Given the description of an element on the screen output the (x, y) to click on. 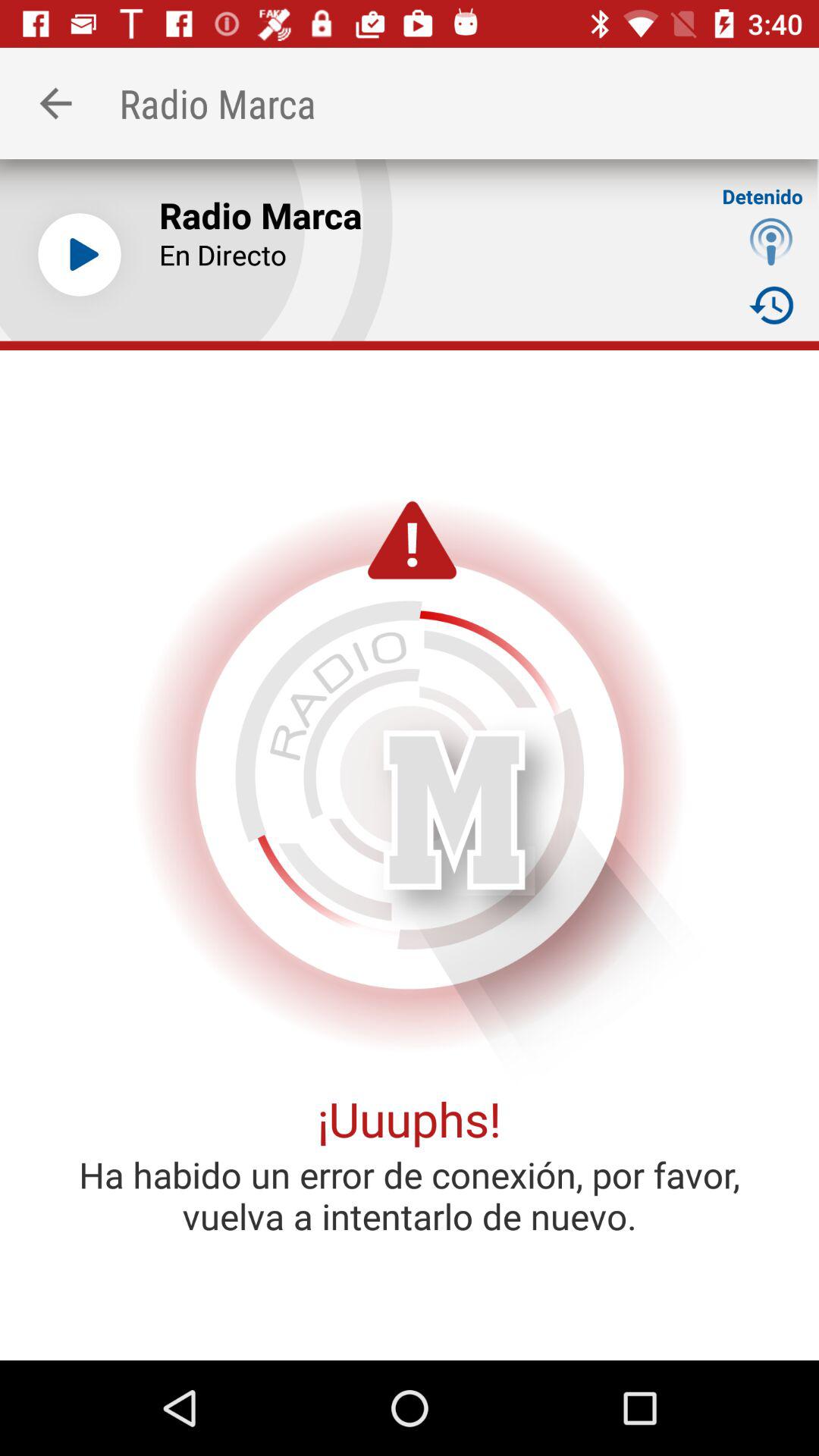
open the icon to the left of the radio marca icon (55, 103)
